Given the description of an element on the screen output the (x, y) to click on. 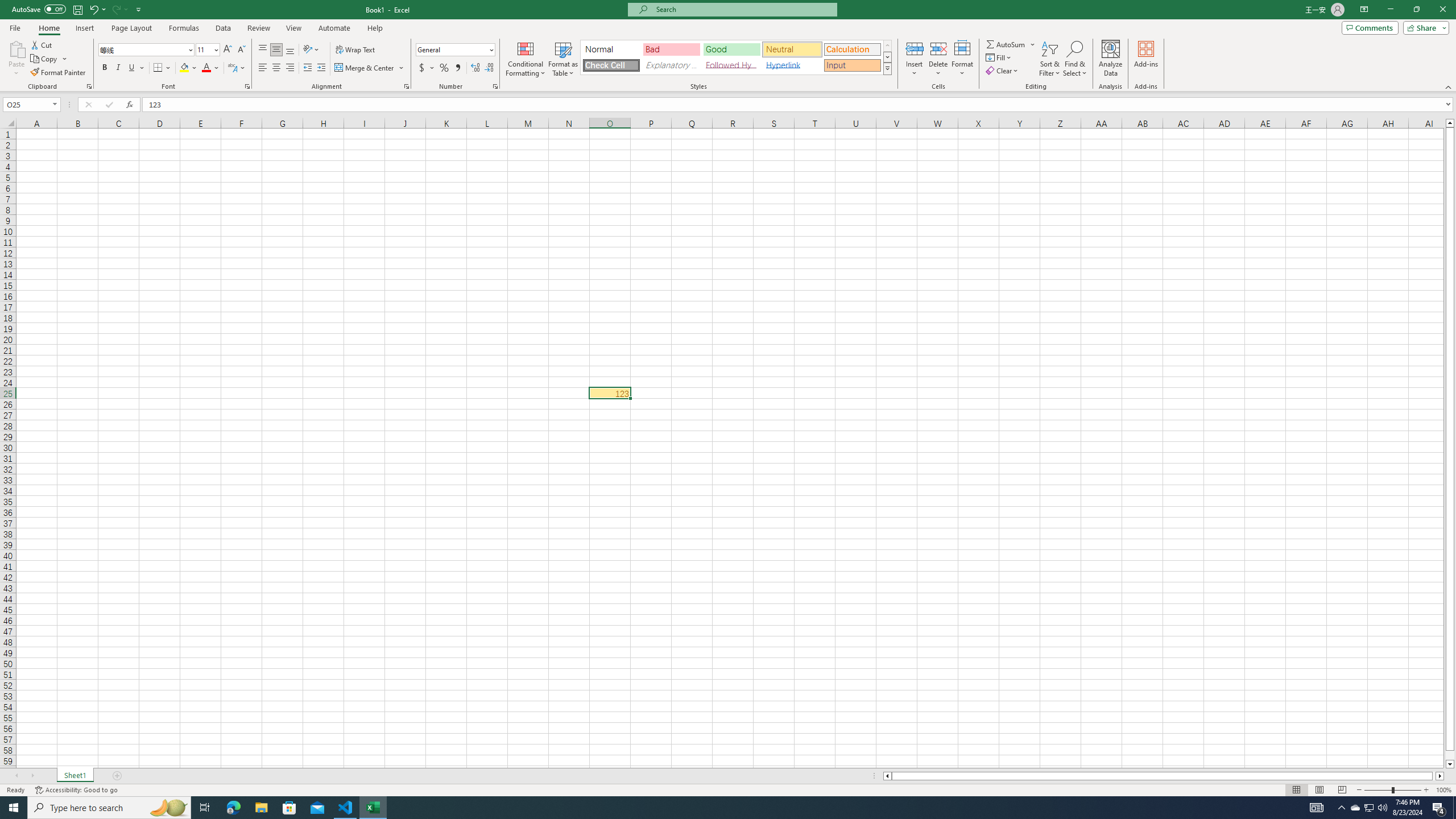
Find & Select (1075, 58)
View (293, 28)
Paste (16, 58)
Home (48, 28)
Accessibility Checker Accessibility: Good to go (76, 790)
Column right (1440, 775)
Comments (1369, 27)
Open (54, 104)
Format Cell Number (494, 85)
Italic (118, 67)
Percent Style (443, 67)
Normal (611, 49)
Zoom (1392, 790)
Data (223, 28)
Format as Table (563, 58)
